Given the description of an element on the screen output the (x, y) to click on. 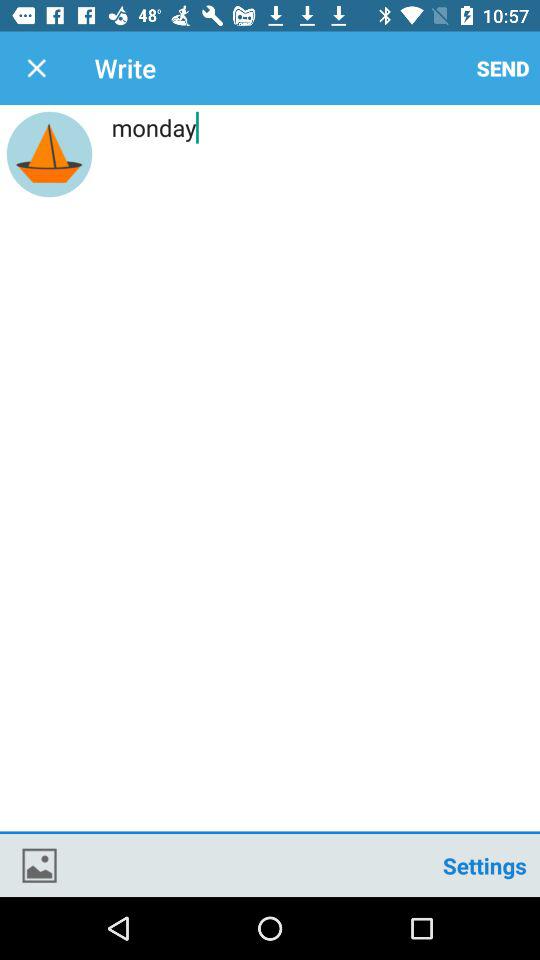
jump to the monday (270, 471)
